Given the description of an element on the screen output the (x, y) to click on. 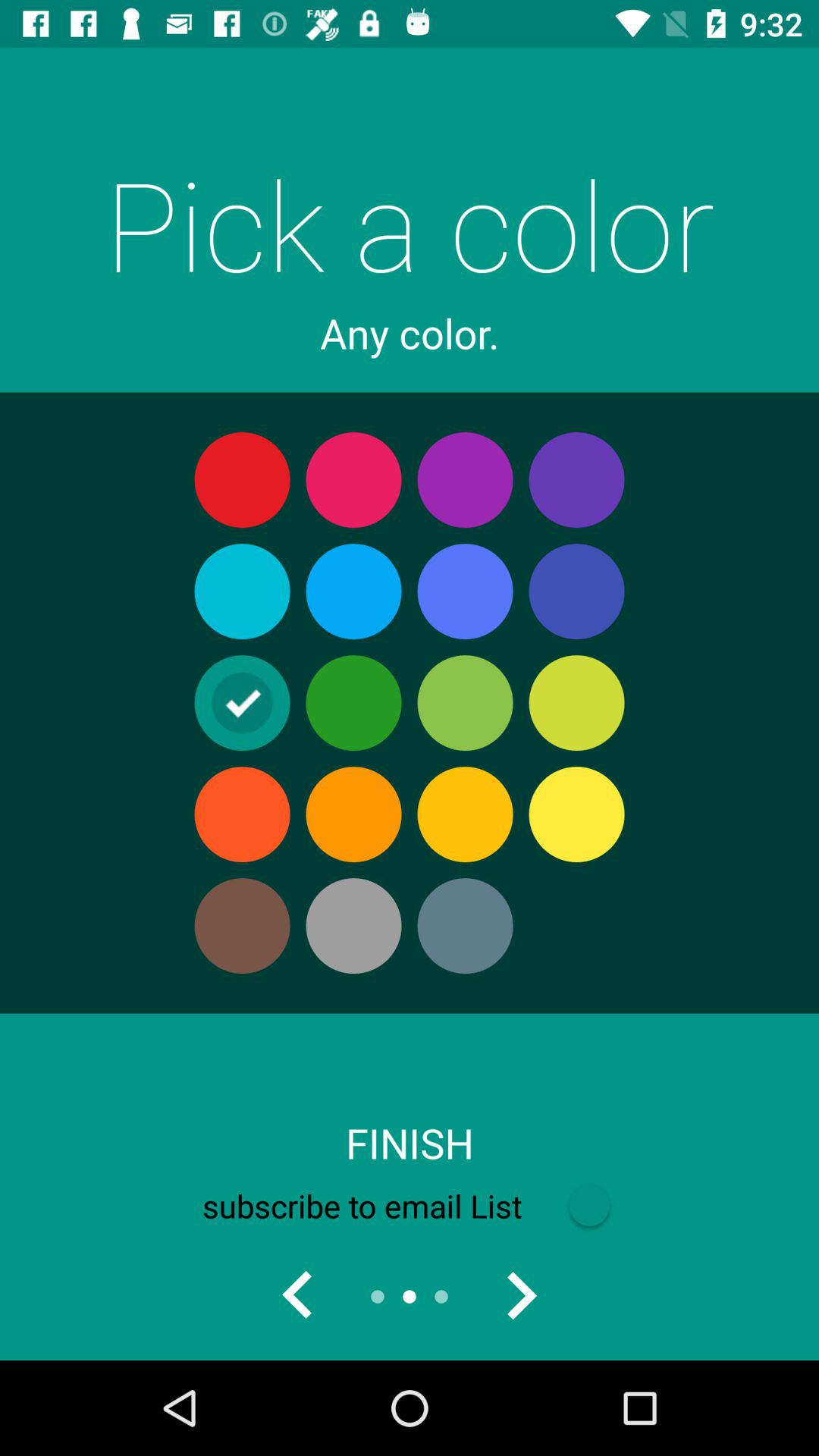
click the icon below the finish item (409, 1206)
